Given the description of an element on the screen output the (x, y) to click on. 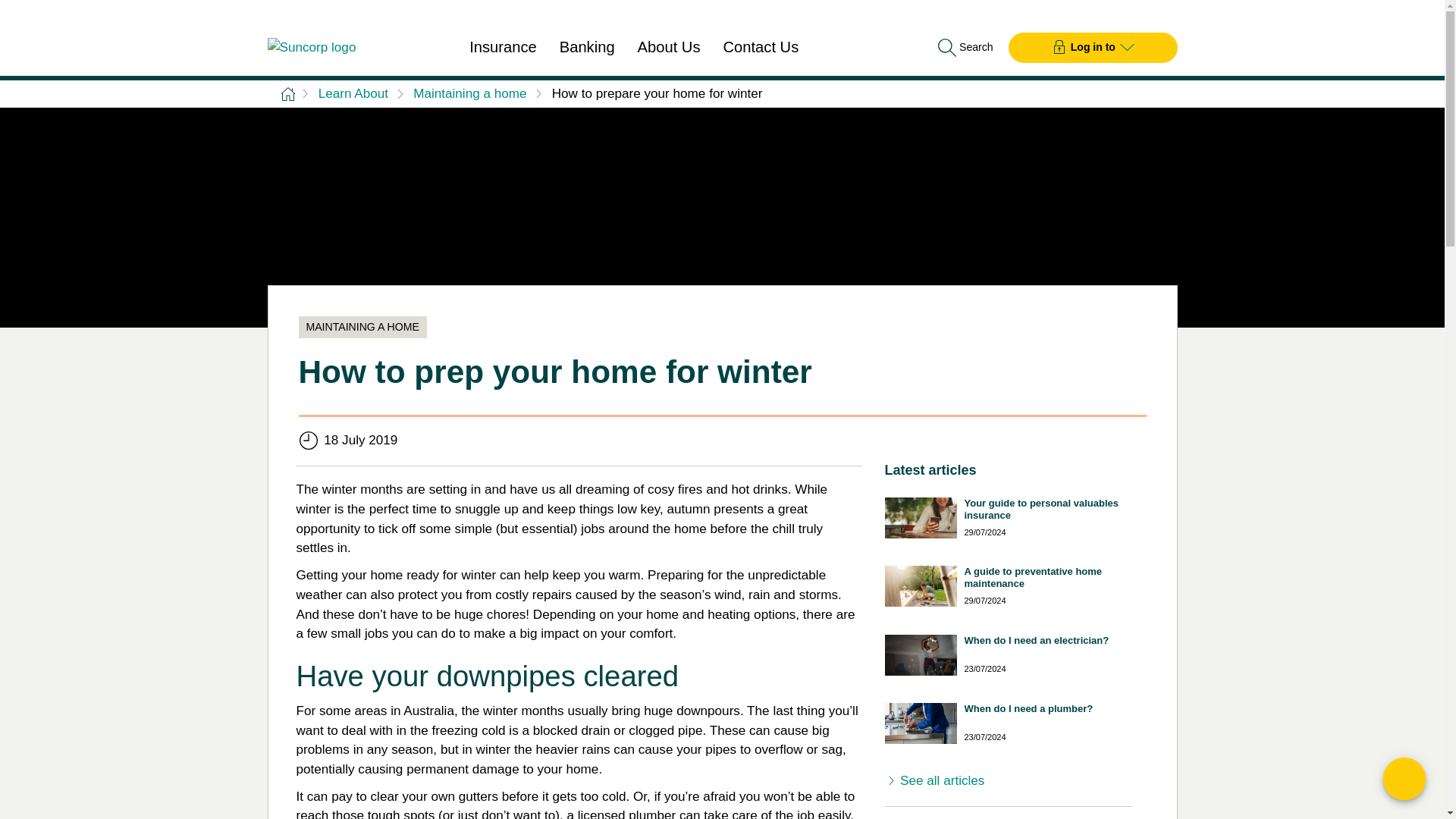
Contact Us (761, 48)
Insurance (502, 48)
About Us (668, 48)
Banking (586, 48)
Search (963, 46)
Log in to (1093, 46)
